Given the description of an element on the screen output the (x, y) to click on. 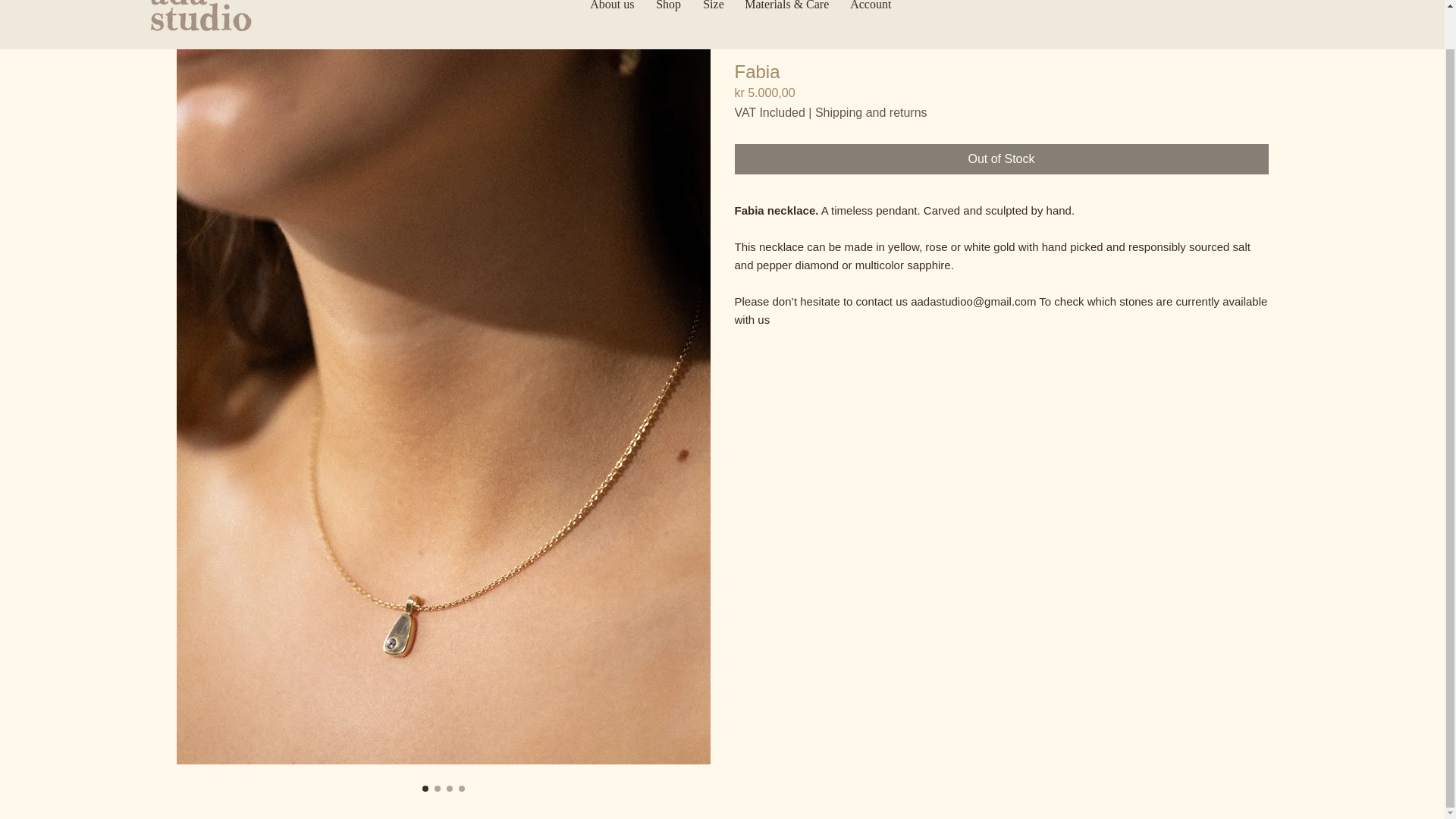
About us (611, 13)
Out of Stock (1000, 159)
Account (870, 13)
Shop (668, 13)
Size (712, 13)
Shipping and returns (871, 112)
